Given the description of an element on the screen output the (x, y) to click on. 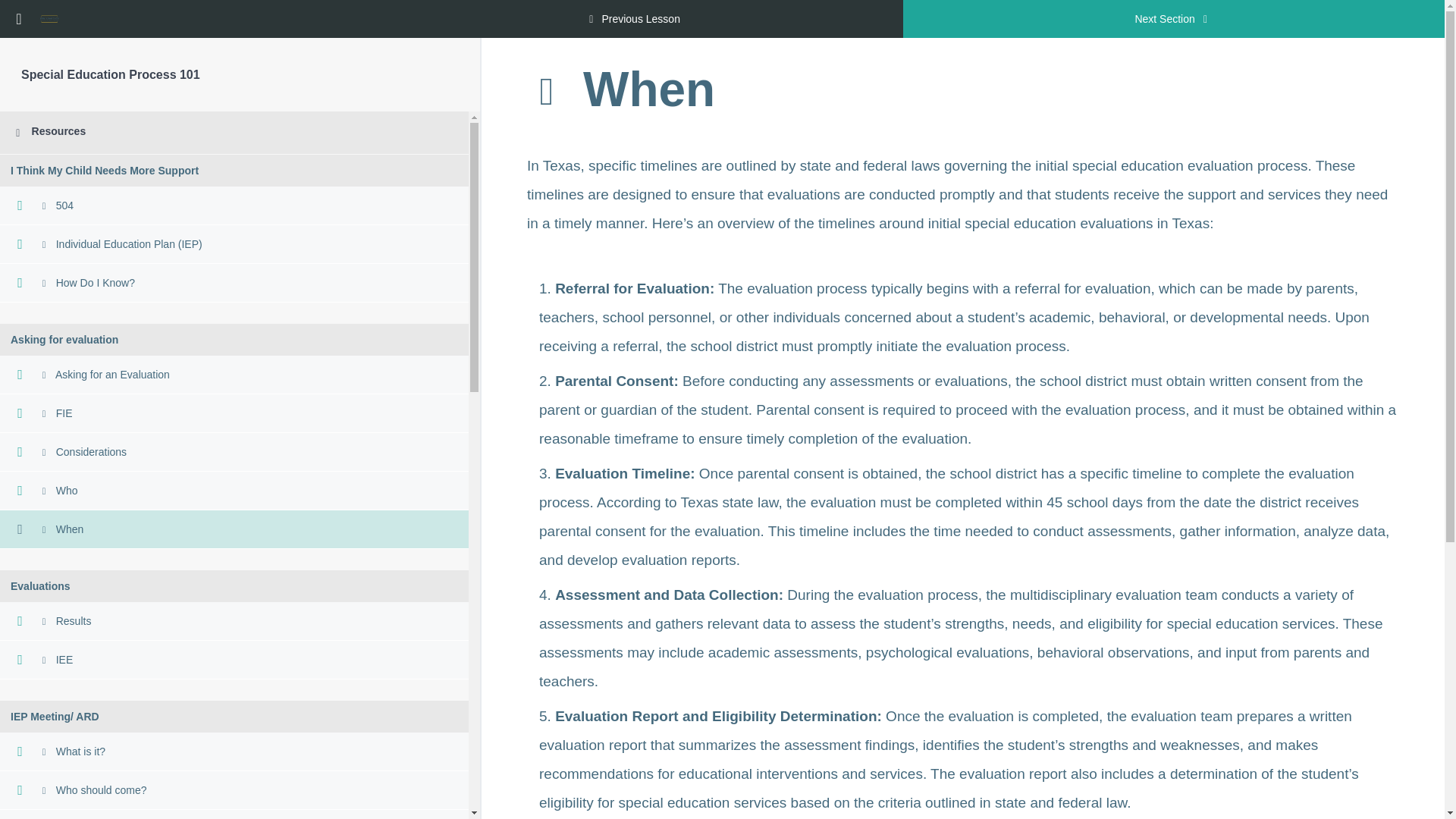
What happens? (234, 814)
Special Education Process 101 (110, 74)
Results (234, 620)
Return to course: Private: Special Education Process 101 (18, 18)
IEE (234, 659)
Who (234, 490)
FIE (234, 413)
504 (234, 205)
Considerations (234, 452)
Previous Lesson (631, 18)
Who should come? (234, 790)
Resources (234, 132)
How Do I Know? (234, 282)
What is it? (234, 751)
Asking for an Evaluation (234, 374)
